Given the description of an element on the screen output the (x, y) to click on. 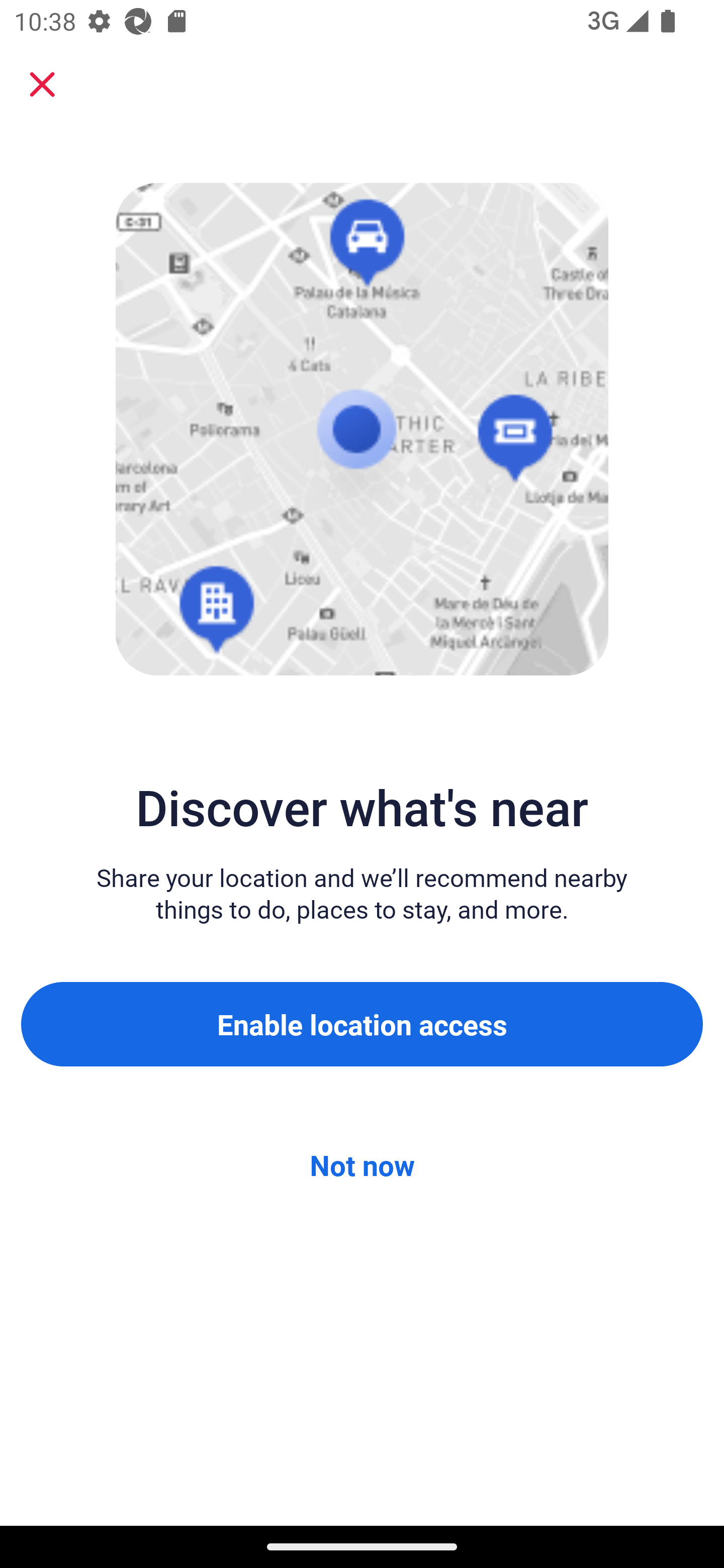
Close sheet (42, 84)
Enable location access (361, 1023)
Not now (362, 1164)
